Given the description of an element on the screen output the (x, y) to click on. 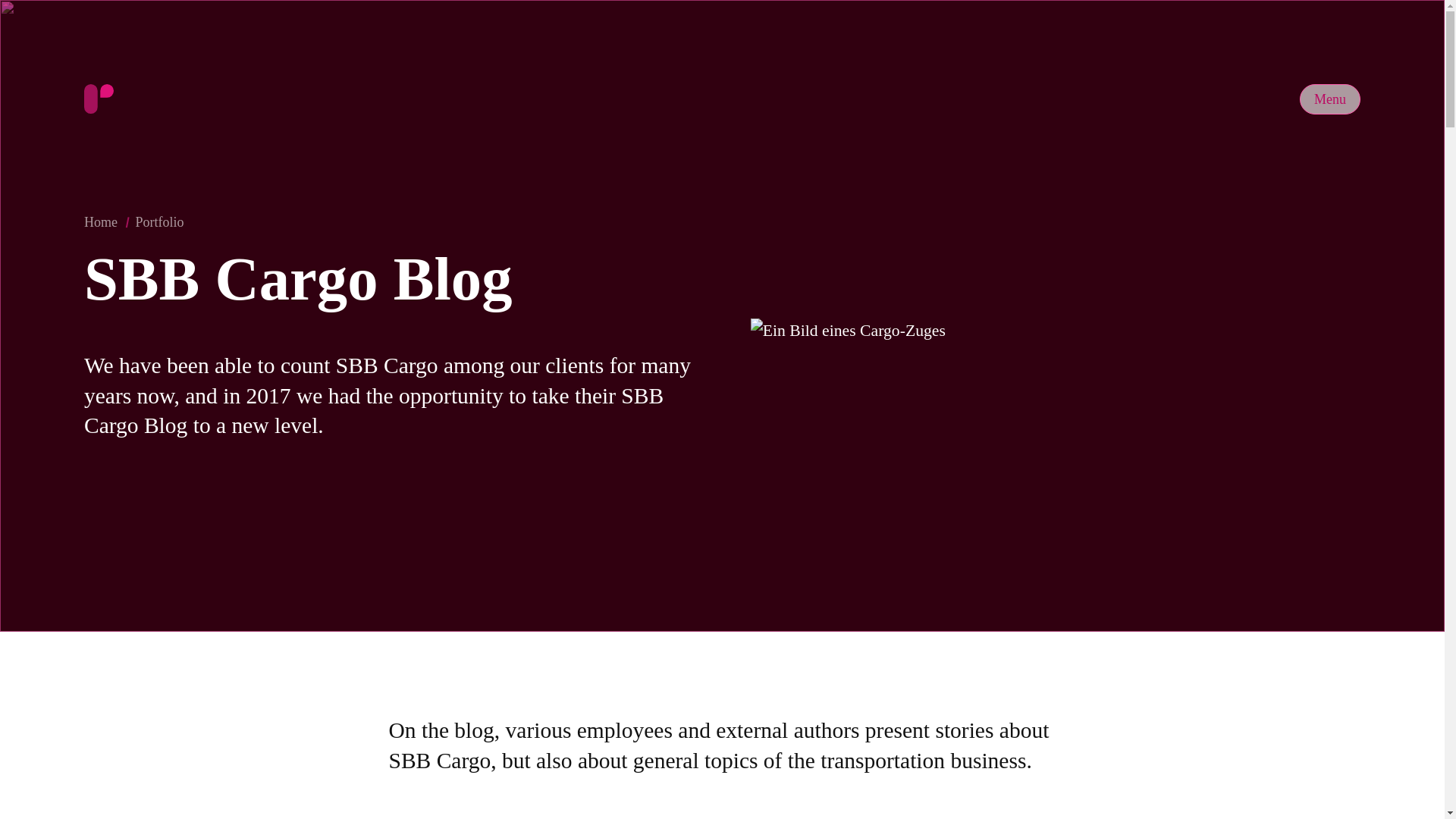
Home (1329, 91)
Portfolio (100, 222)
